Given the description of an element on the screen output the (x, y) to click on. 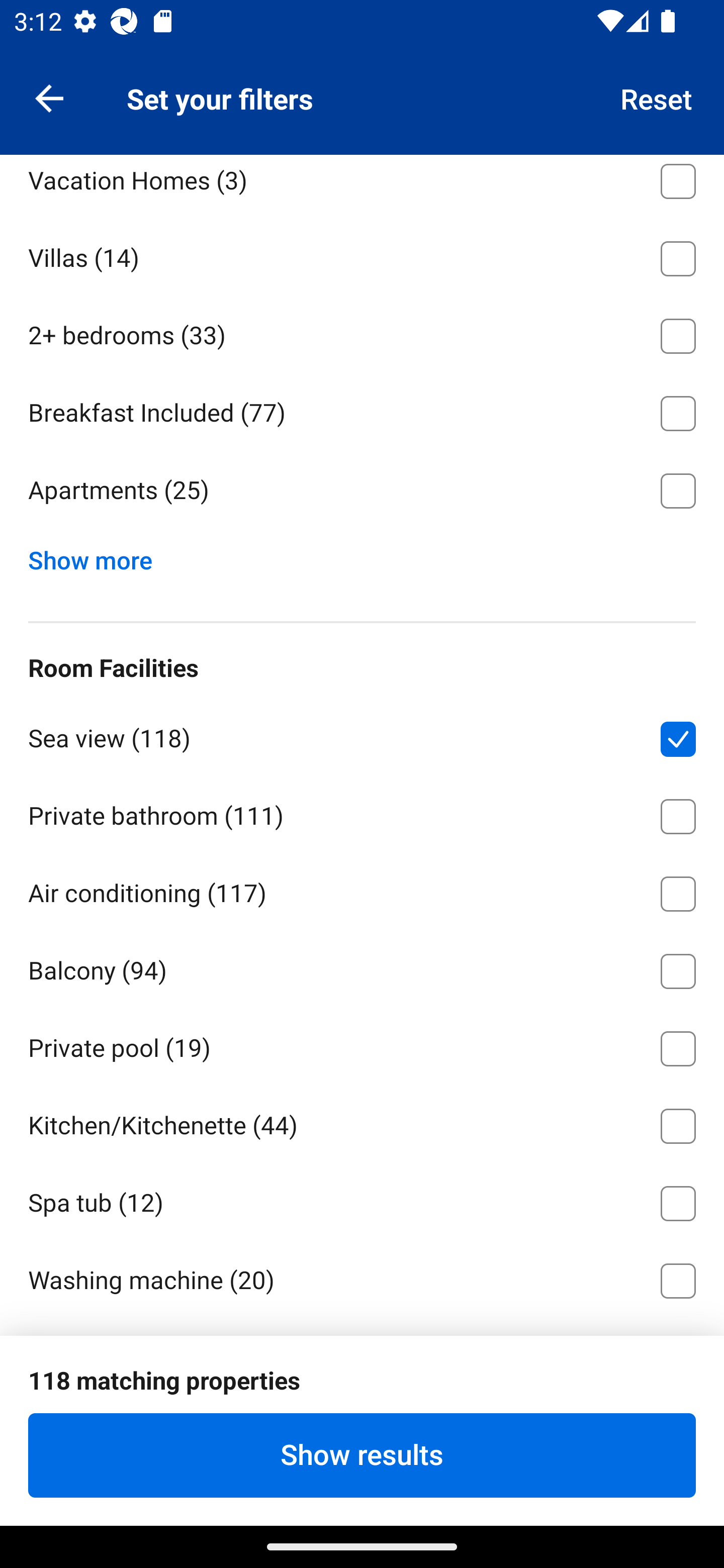
Navigate up (49, 97)
Reset (656, 97)
Vacation Homes ⁦(3) (361, 185)
Villas ⁦(14) (361, 255)
2+ bedrooms ⁦(33) (361, 332)
Breakfast Included ⁦(77) (361, 409)
Apartments ⁦(25) (361, 490)
Show more (97, 555)
Sea view ⁦(118) (361, 735)
Private bathroom ⁦(111) (361, 812)
Air conditioning ⁦(117) (361, 890)
Balcony ⁦(94) (361, 967)
Private pool ⁦(19) (361, 1044)
Kitchen/Kitchenette ⁦(44) (361, 1122)
Spa tub ⁦(12) (361, 1199)
Washing machine ⁦(20) (361, 1276)
Show results (361, 1454)
